Given the description of an element on the screen output the (x, y) to click on. 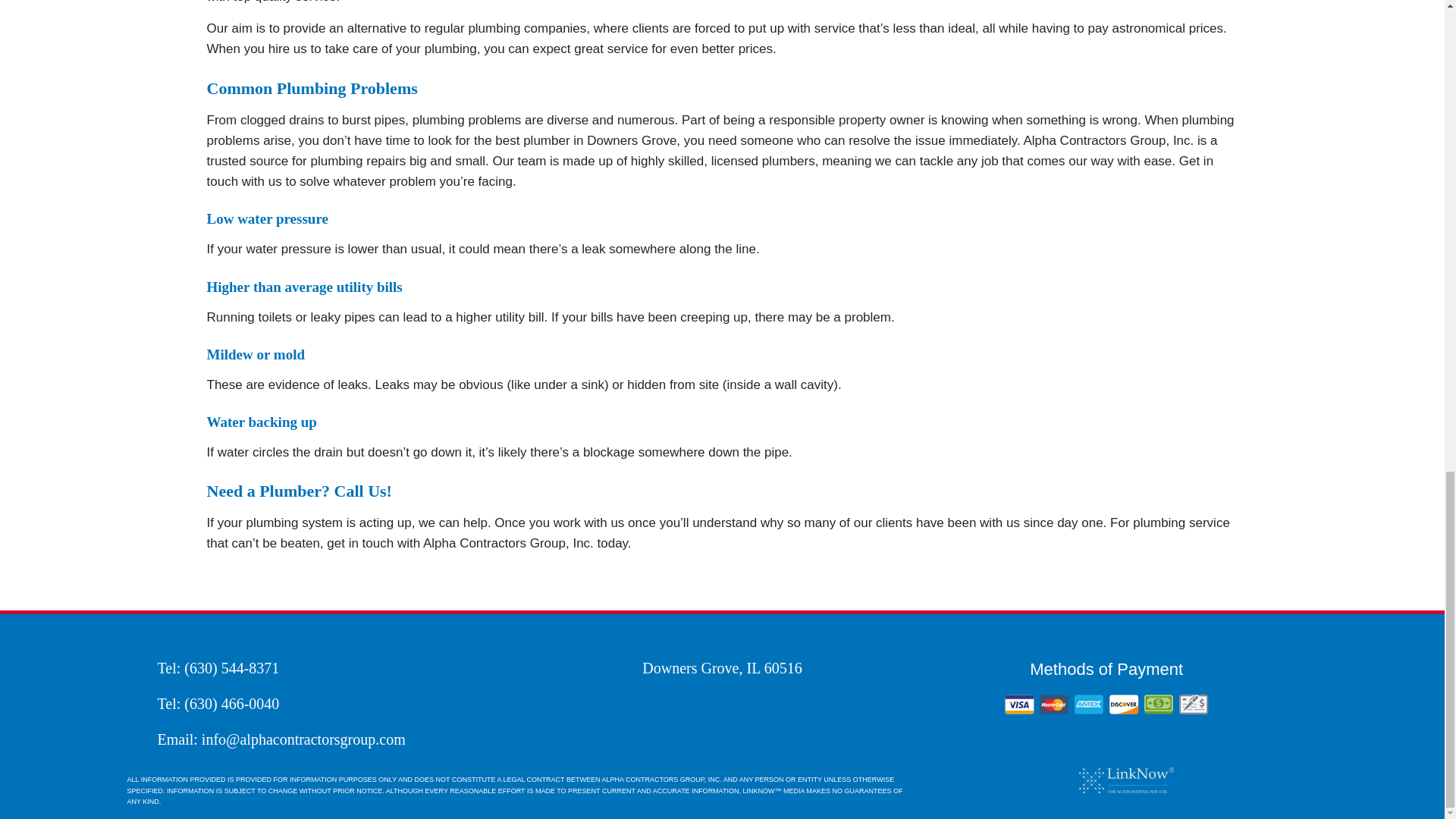
Cash (1158, 704)
Check (1193, 704)
Visa (1019, 704)
Discover (1124, 704)
American Express (1089, 704)
Mastercard (1054, 704)
